Given the description of an element on the screen output the (x, y) to click on. 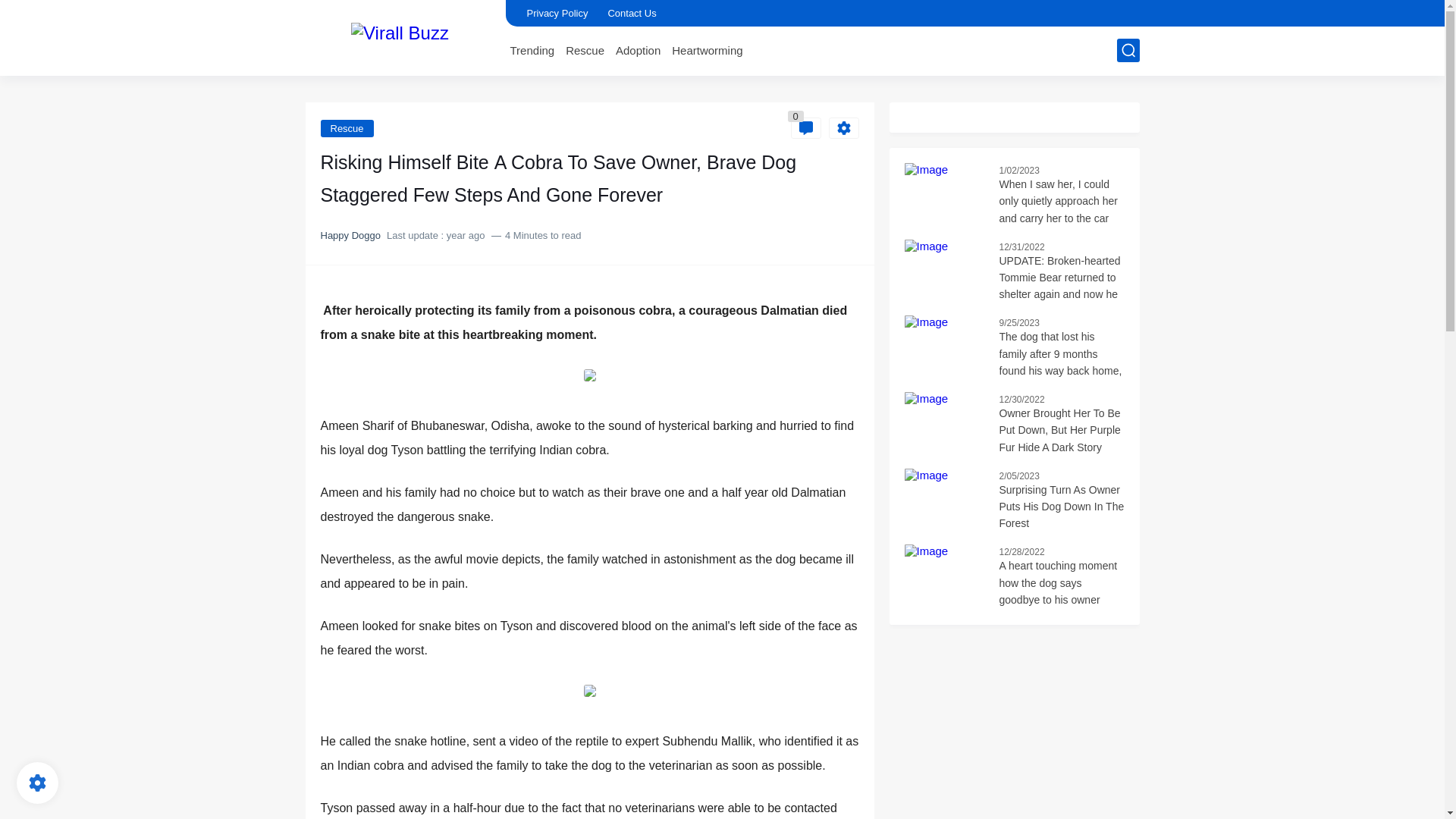
0 (805, 127)
Adoption (638, 50)
Trending (531, 50)
Rescue (346, 128)
Rescue (346, 128)
Rescue (585, 50)
Rescue (585, 50)
Privacy Policy (556, 12)
Adoption (638, 50)
Heartworming (706, 50)
Contact Us (631, 12)
Trending (531, 50)
Heartworming (706, 50)
Virall Buzz (399, 35)
